Given the description of an element on the screen output the (x, y) to click on. 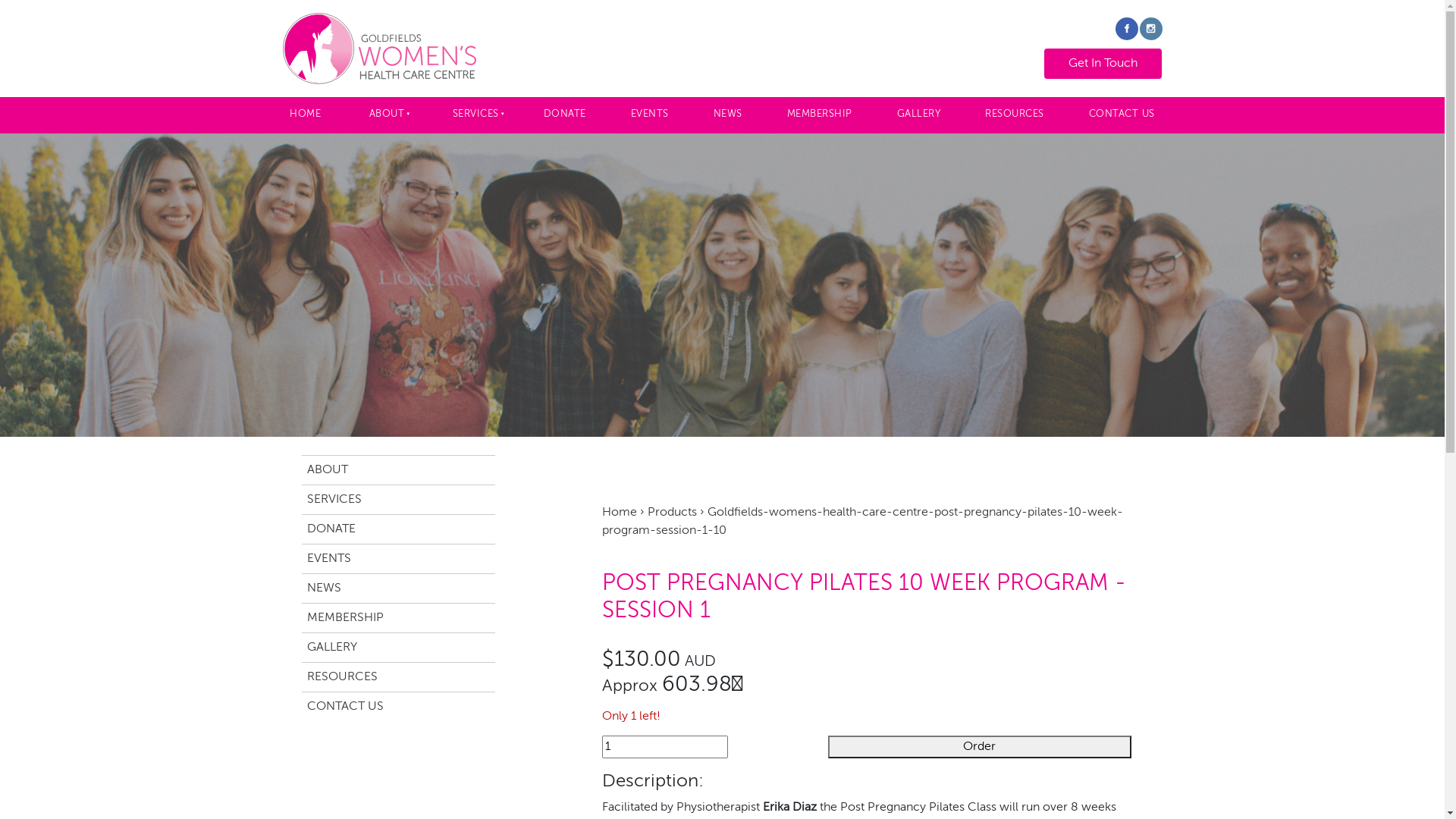
Home Element type: text (619, 512)
MEMBERSHIP Element type: text (819, 114)
SERVICES Element type: text (398, 498)
EVENTS Element type: text (649, 114)
NEWS Element type: text (398, 587)
RESOURCES Element type: text (1014, 114)
SERVICES Element type: text (473, 114)
ABOUT Element type: text (398, 469)
RESOURCES Element type: text (398, 675)
CONTACT US Element type: text (1121, 114)
NEWS Element type: text (727, 114)
DONATE Element type: text (398, 528)
GET IN TOUCH Element type: text (1102, 63)
MEMBERSHIP Element type: text (398, 616)
HOME Element type: text (304, 114)
Products Element type: text (671, 512)
GALLERY Element type: text (398, 647)
CONTACT US Element type: text (398, 706)
DONATE Element type: text (564, 114)
Order Element type: text (979, 746)
ABOUT Element type: text (384, 114)
Instagram Element type: hover (1150, 28)
EVENTS Element type: text (398, 557)
Facebook Element type: hover (1125, 28)
GALLERY Element type: text (918, 114)
